Given the description of an element on the screen output the (x, y) to click on. 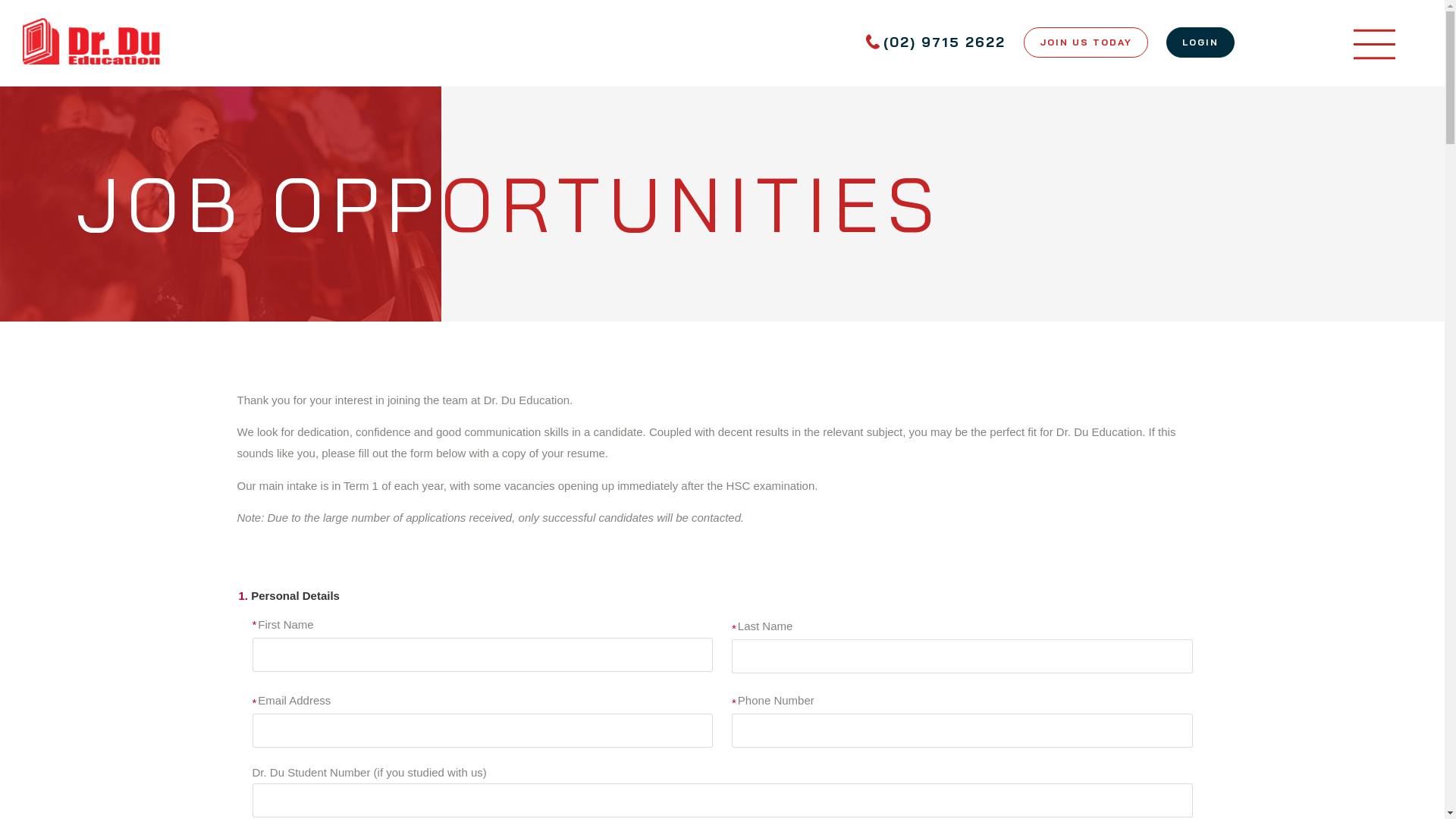
Number should be in this format xxxxxxxxxx, eg: 1234567890 Element type: hover (961, 730)
(02) 9715 2622 Element type: text (935, 42)
JOIN US TODAY Element type: text (1085, 44)
LOGIN Element type: text (1200, 44)
